Given the description of an element on the screen output the (x, y) to click on. 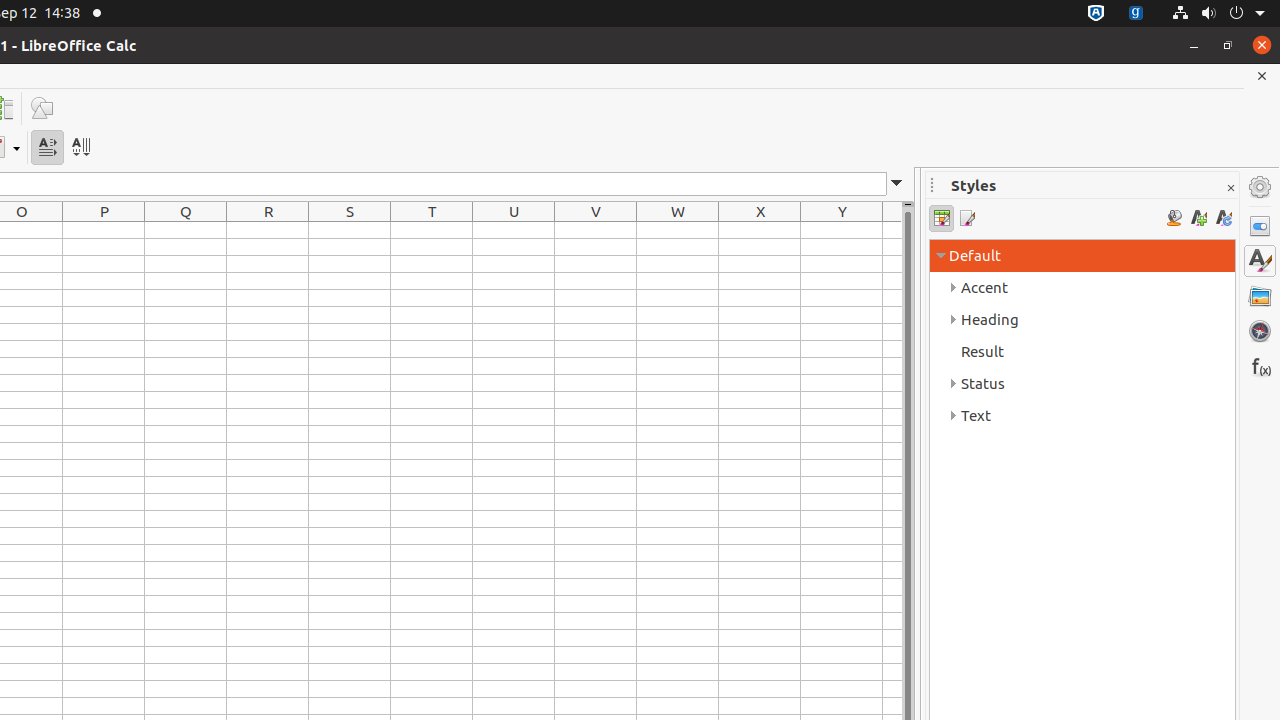
P1 Element type: table-cell (104, 230)
W1 Element type: table-cell (678, 230)
Update Style Element type: push-button (1223, 218)
Y1 Element type: table-cell (842, 230)
